Given the description of an element on the screen output the (x, y) to click on. 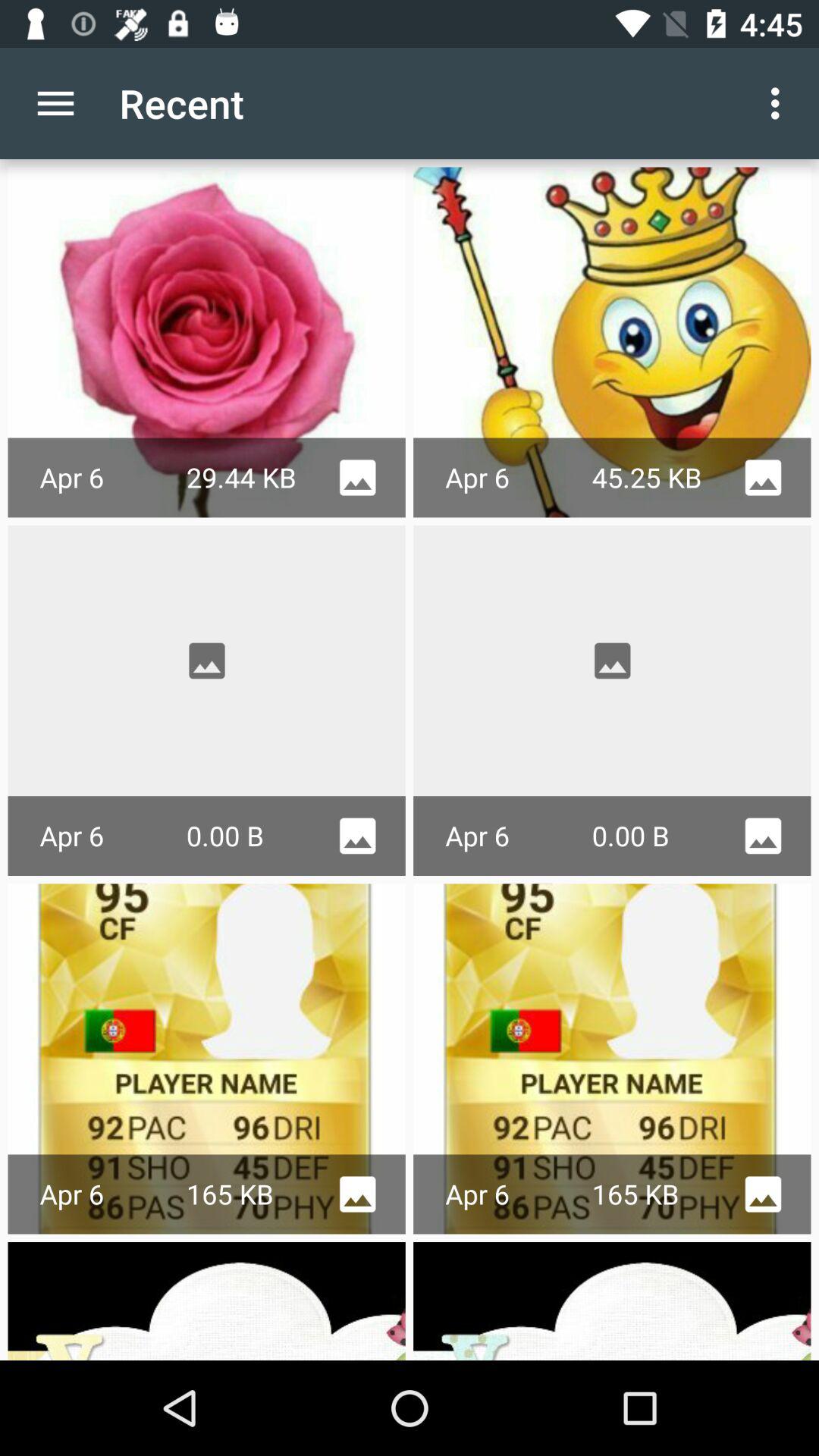
press the item next to recent (779, 103)
